Given the description of an element on the screen output the (x, y) to click on. 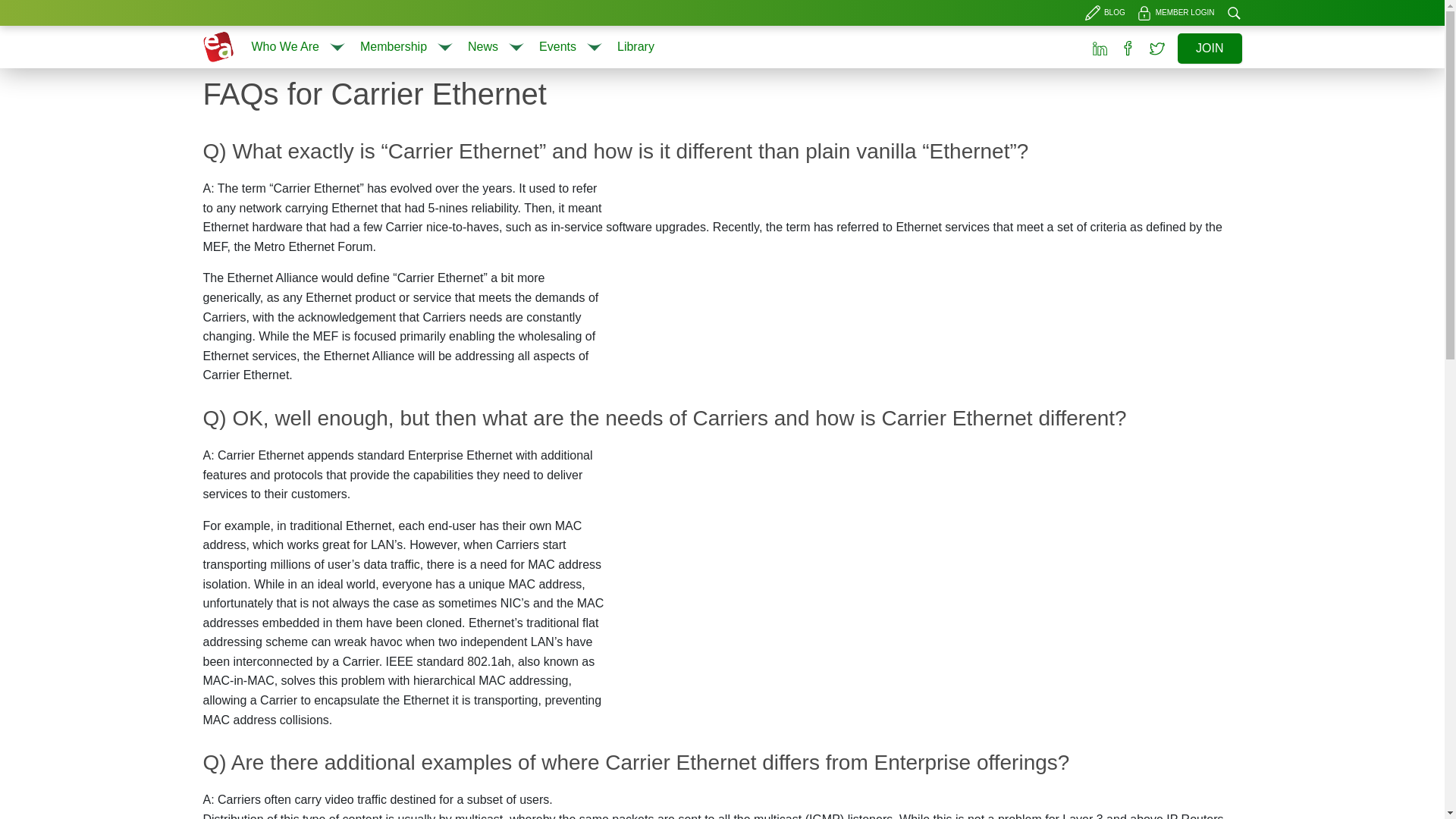
MEMBER LOGIN (1177, 12)
Membership (392, 46)
News (482, 46)
Governing Documents (407, 88)
BLOG (1106, 12)
Library (636, 46)
Press Releases (497, 88)
Board of Directors (299, 88)
Search (1233, 12)
Events (557, 46)
